Given the description of an element on the screen output the (x, y) to click on. 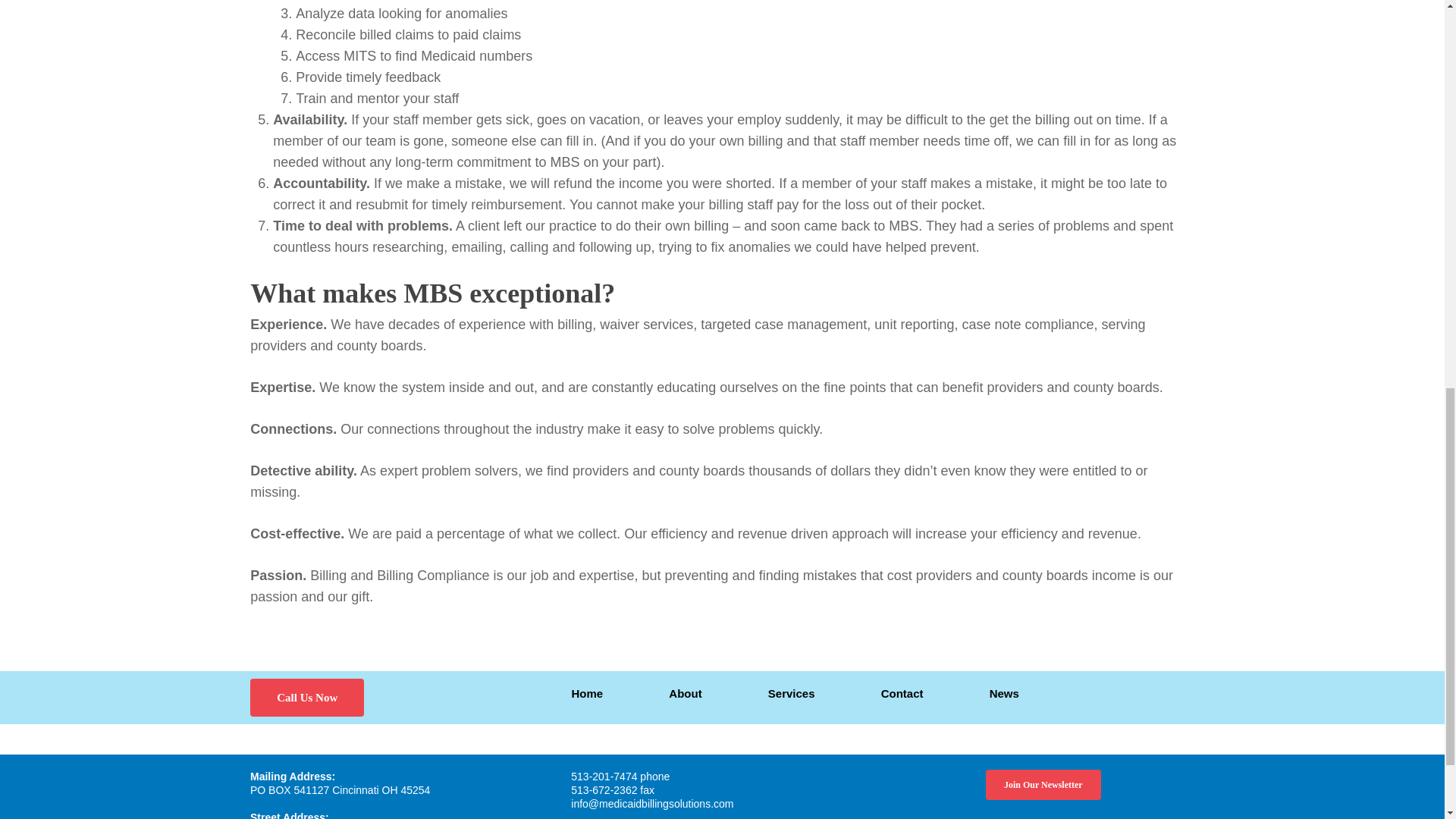
Contact (901, 693)
Services (791, 693)
News (1004, 693)
About (684, 693)
Home (588, 693)
Join Our Newsletter (1042, 784)
Call Us Now (307, 697)
